Given the description of an element on the screen output the (x, y) to click on. 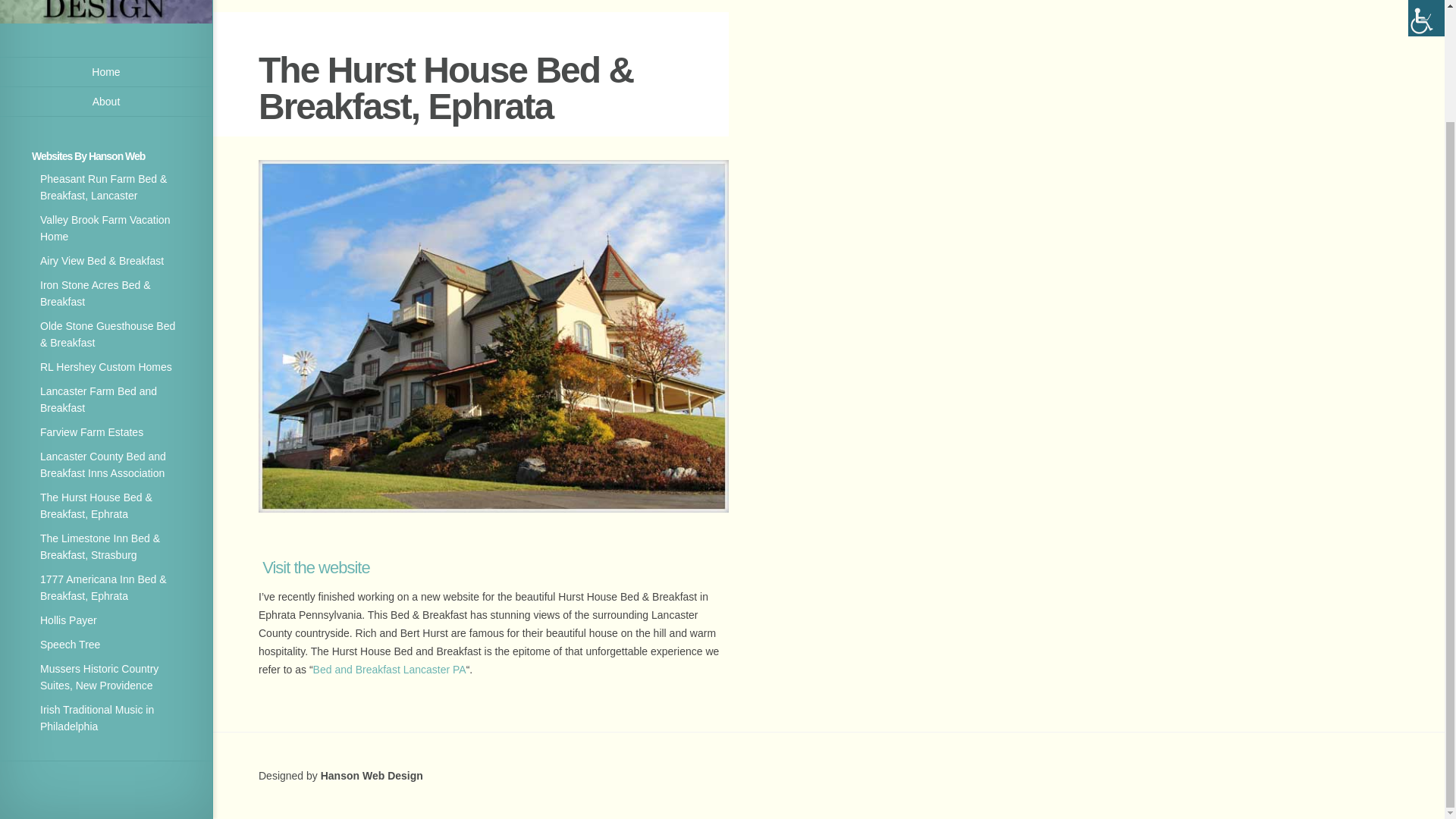
Bed and Breakfast Lancaster PA (389, 669)
Visit the website (315, 567)
About (106, 101)
Bed and Breakfast Lancaster PA (389, 669)
Hollis Payer (68, 620)
Valley Brook Farm Vacation Home (105, 227)
Lancaster Farm Bed and Breakfast (98, 399)
RL Hershey Custom Homes (105, 367)
Lancaster County Bed and Breakfast Inns Association (102, 464)
Hanson Web Design (371, 775)
